Given the description of an element on the screen output the (x, y) to click on. 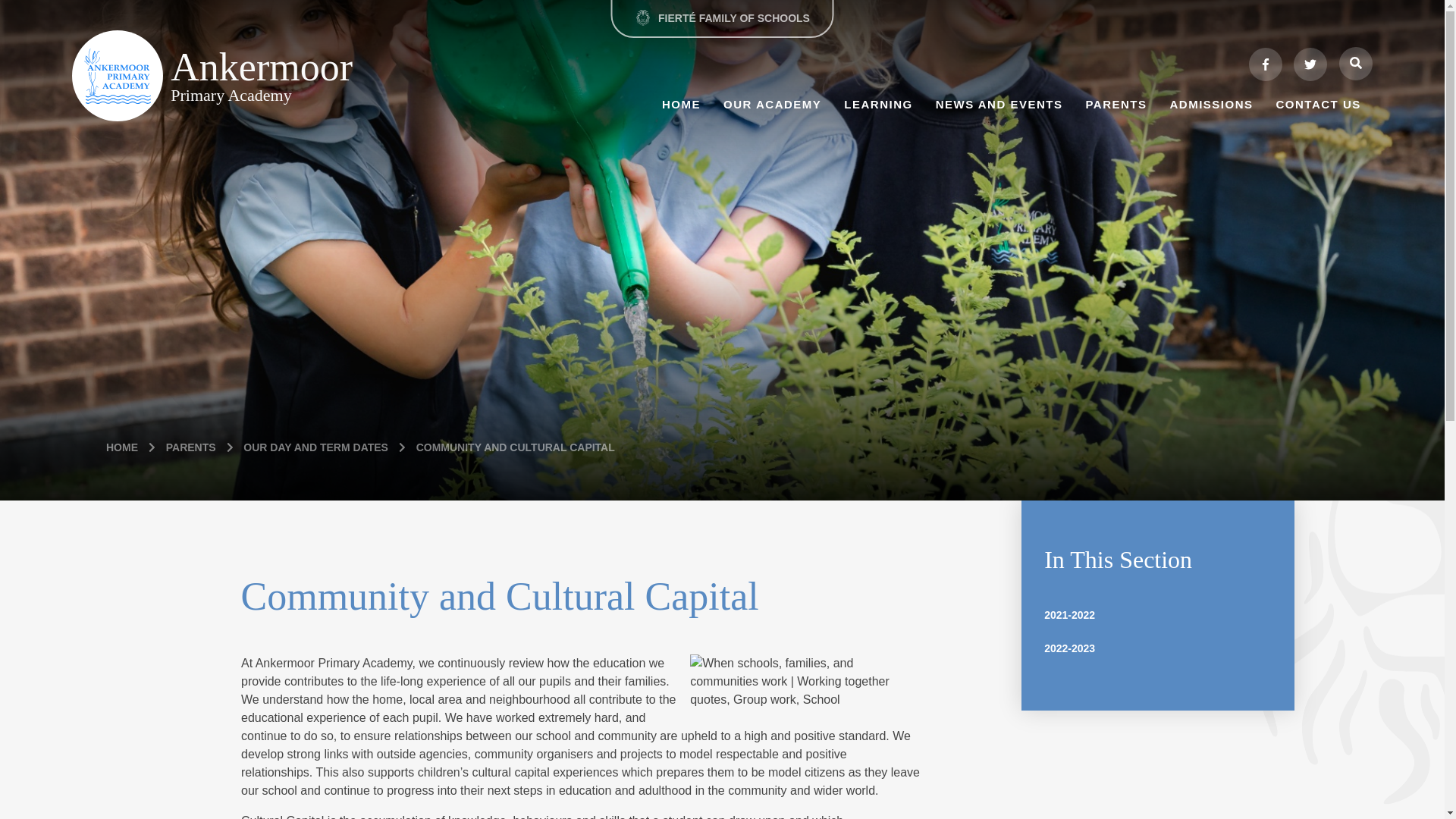
OUR ACADEMY (771, 103)
HOME (680, 103)
LEARNING (877, 103)
